Given the description of an element on the screen output the (x, y) to click on. 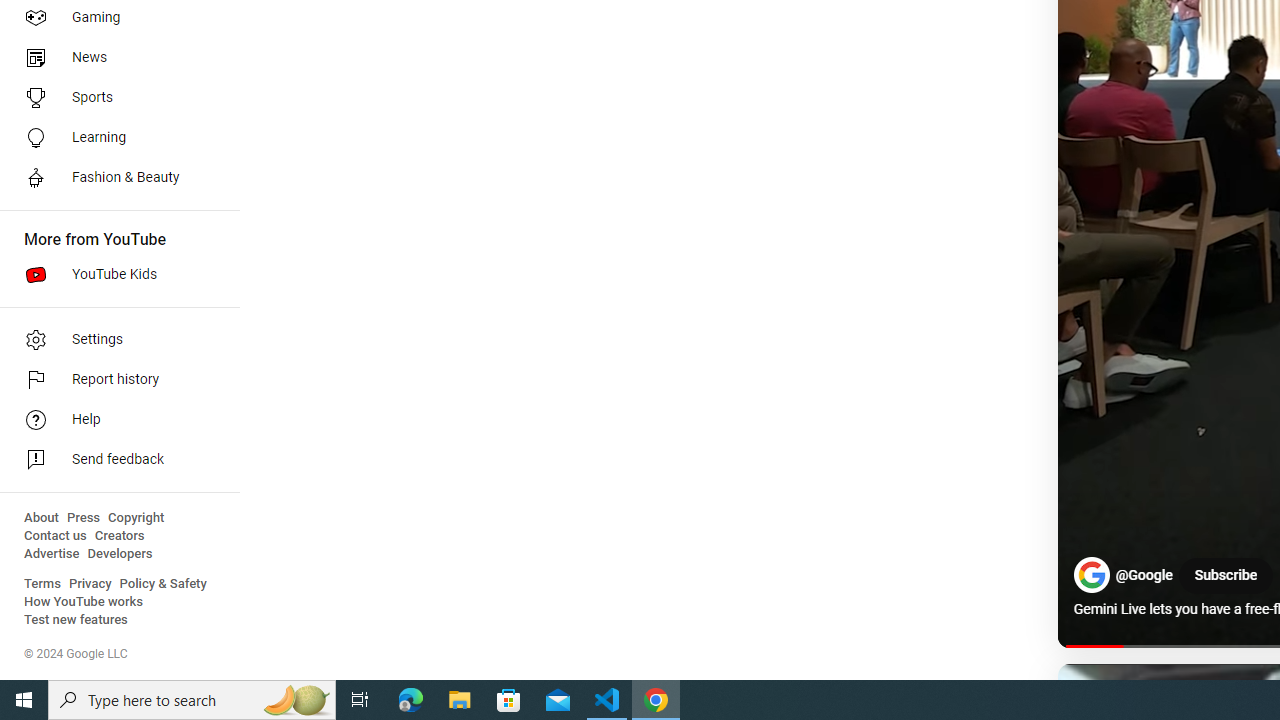
Learning (113, 137)
Contact us (55, 536)
Creators (118, 536)
Policy & Safety (163, 584)
Send feedback (113, 459)
Report history (113, 380)
Test new features (76, 620)
@Google (1144, 575)
Copyright (136, 518)
Developers (120, 554)
YouTube Kids (113, 274)
Fashion & Beauty (113, 177)
